Given the description of an element on the screen output the (x, y) to click on. 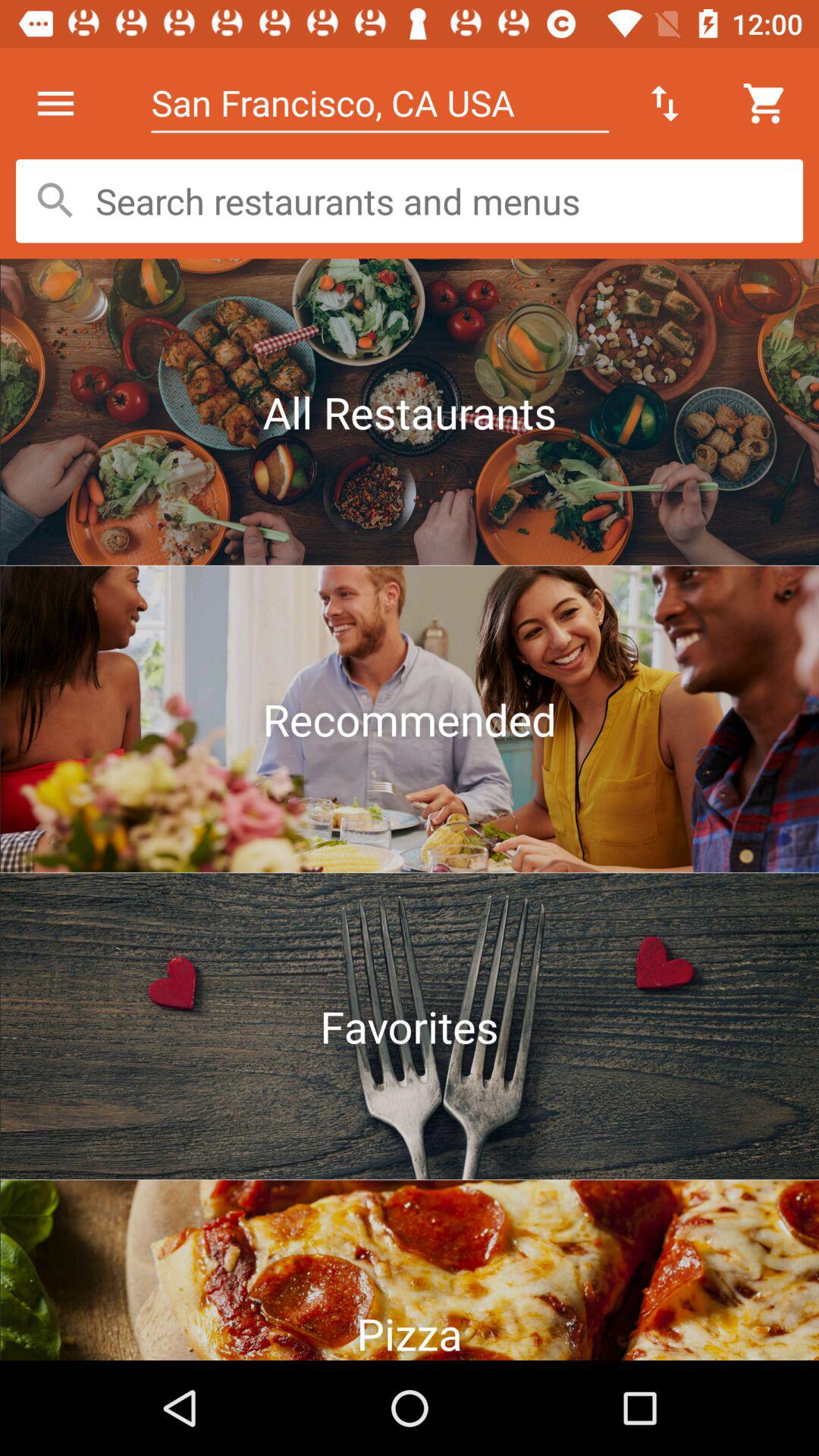
launch the item next to san francisco ca icon (664, 103)
